Given the description of an element on the screen output the (x, y) to click on. 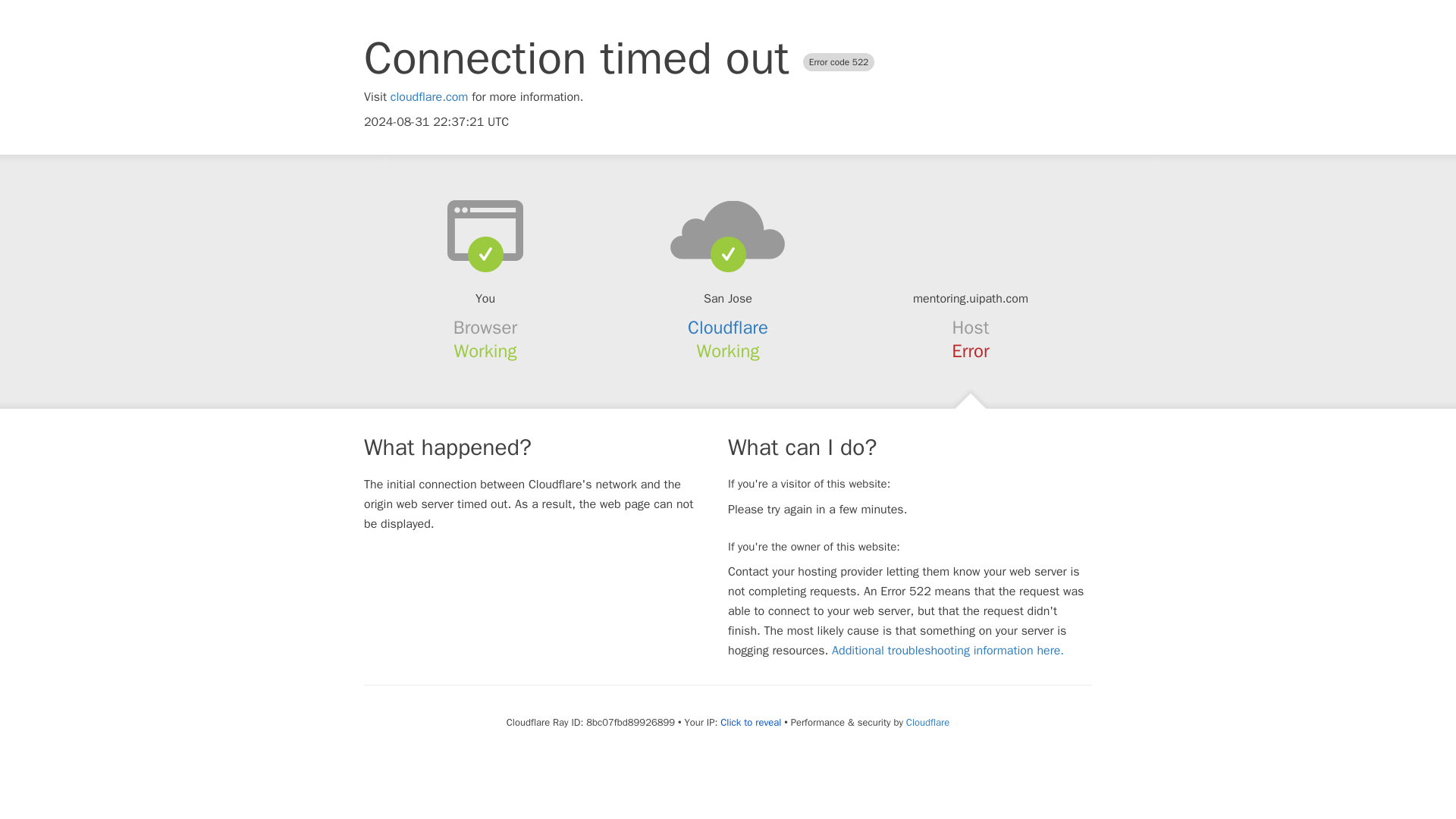
Cloudflare (727, 327)
Additional troubleshooting information here. (947, 650)
Click to reveal (750, 722)
cloudflare.com (429, 96)
Cloudflare (927, 721)
